Given the description of an element on the screen output the (x, y) to click on. 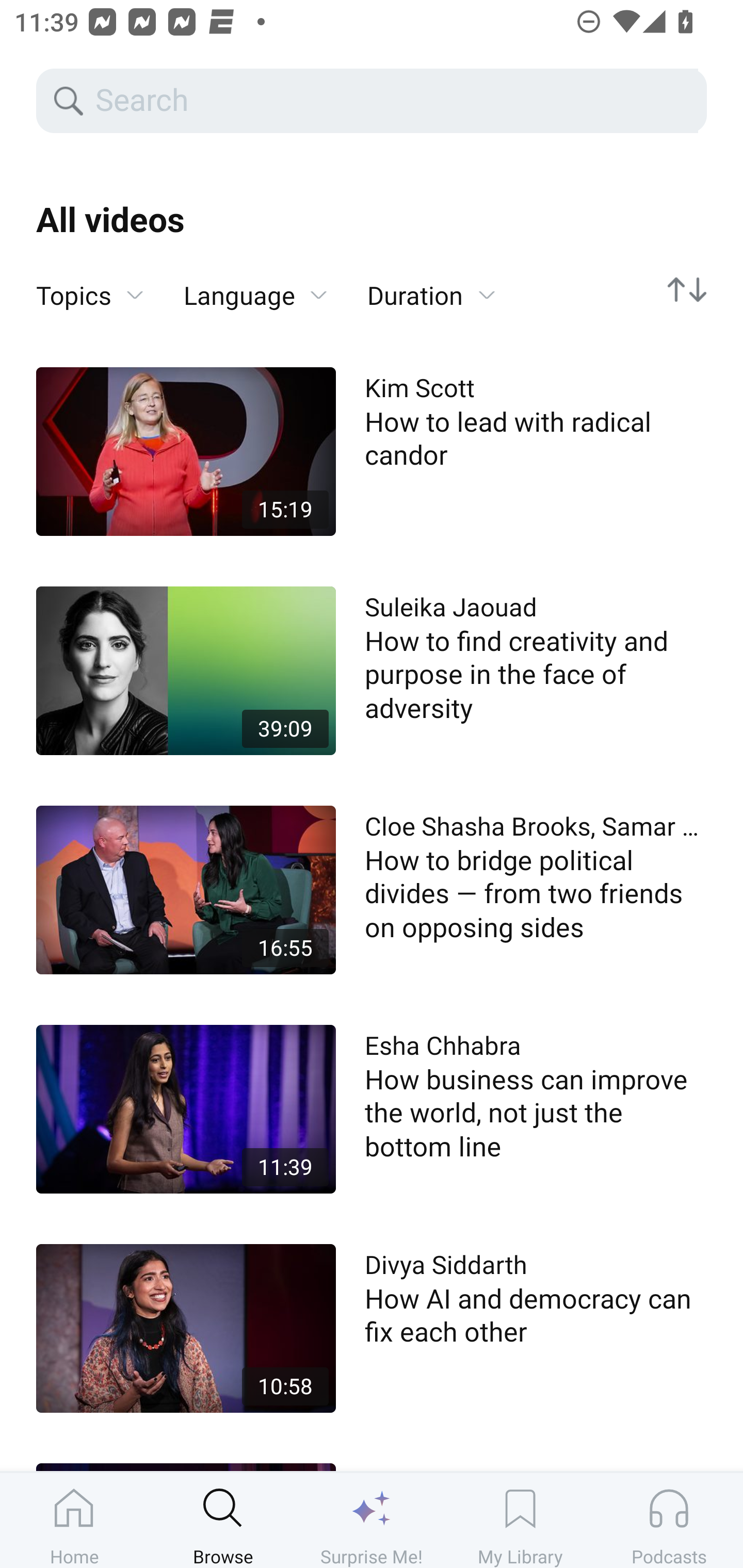
Search (395, 100)
Topics (90, 295)
Language (255, 295)
Duration (431, 295)
15:19 Kim Scott How to lead with radical candor (371, 451)
Home (74, 1520)
Browse (222, 1520)
Surprise Me! (371, 1520)
My Library (519, 1520)
Podcasts (668, 1520)
